Given the description of an element on the screen output the (x, y) to click on. 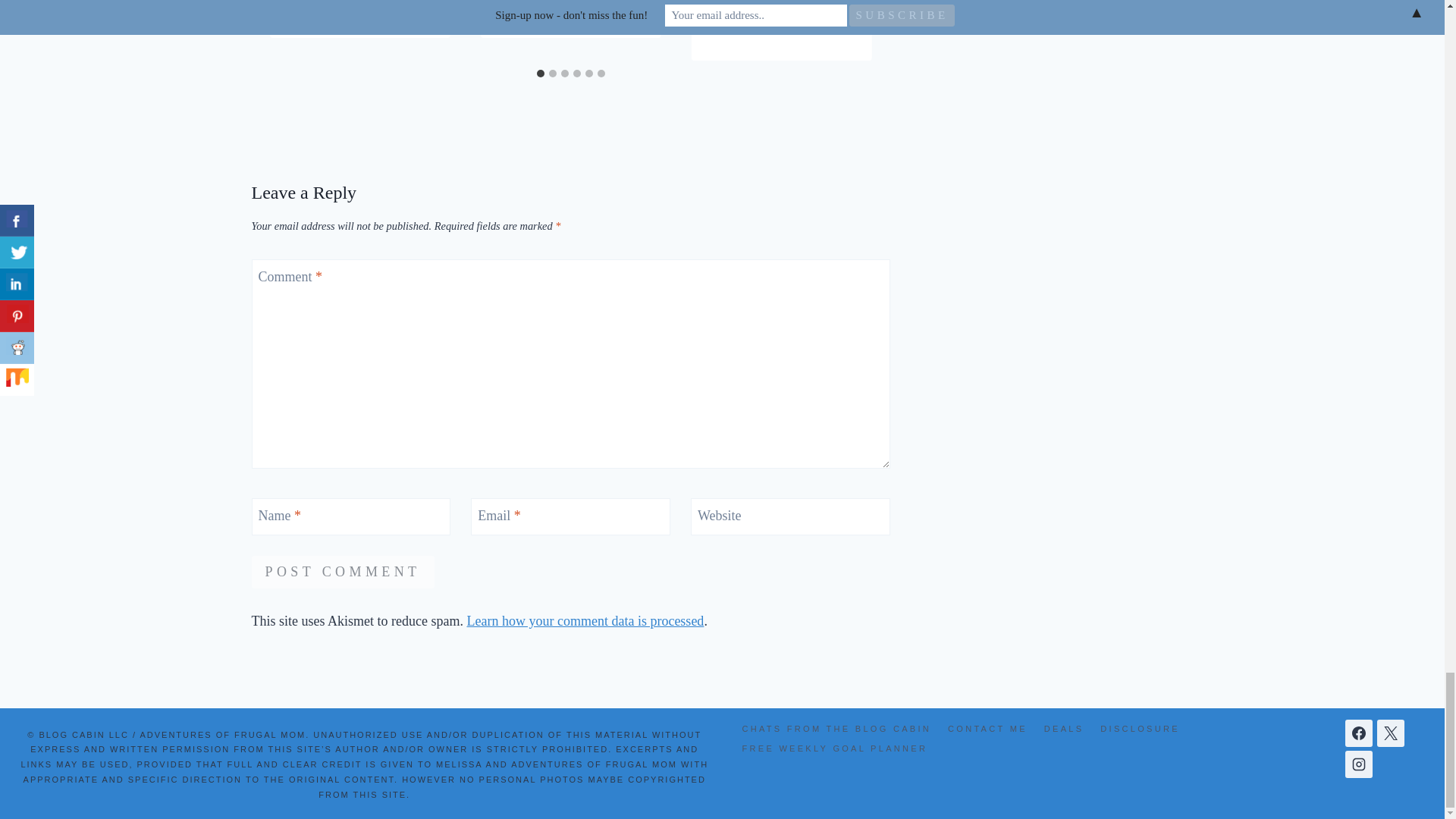
Post Comment (342, 572)
